Given the description of an element on the screen output the (x, y) to click on. 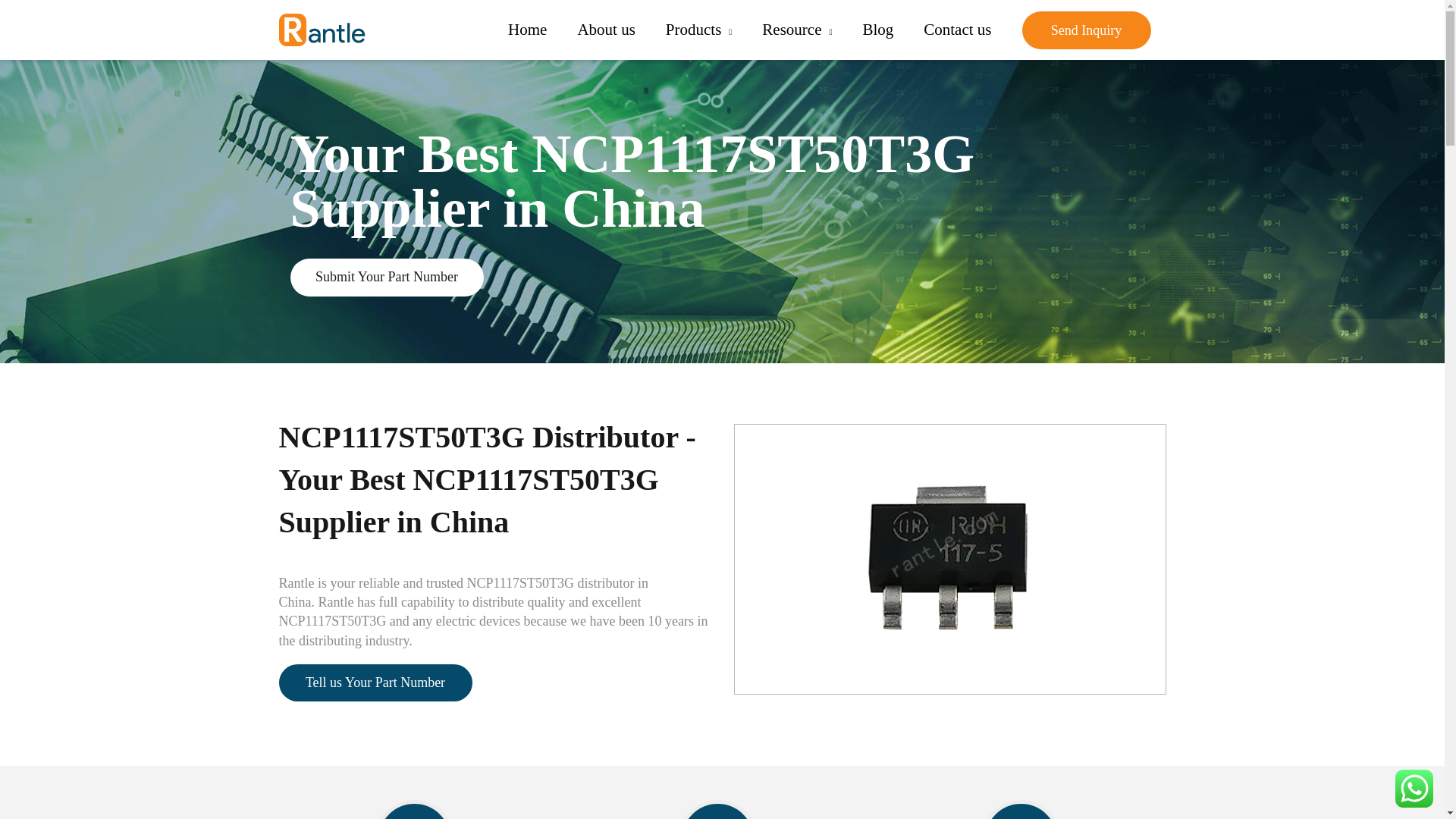
Home (527, 29)
About us (605, 29)
Products (698, 29)
